Given the description of an element on the screen output the (x, y) to click on. 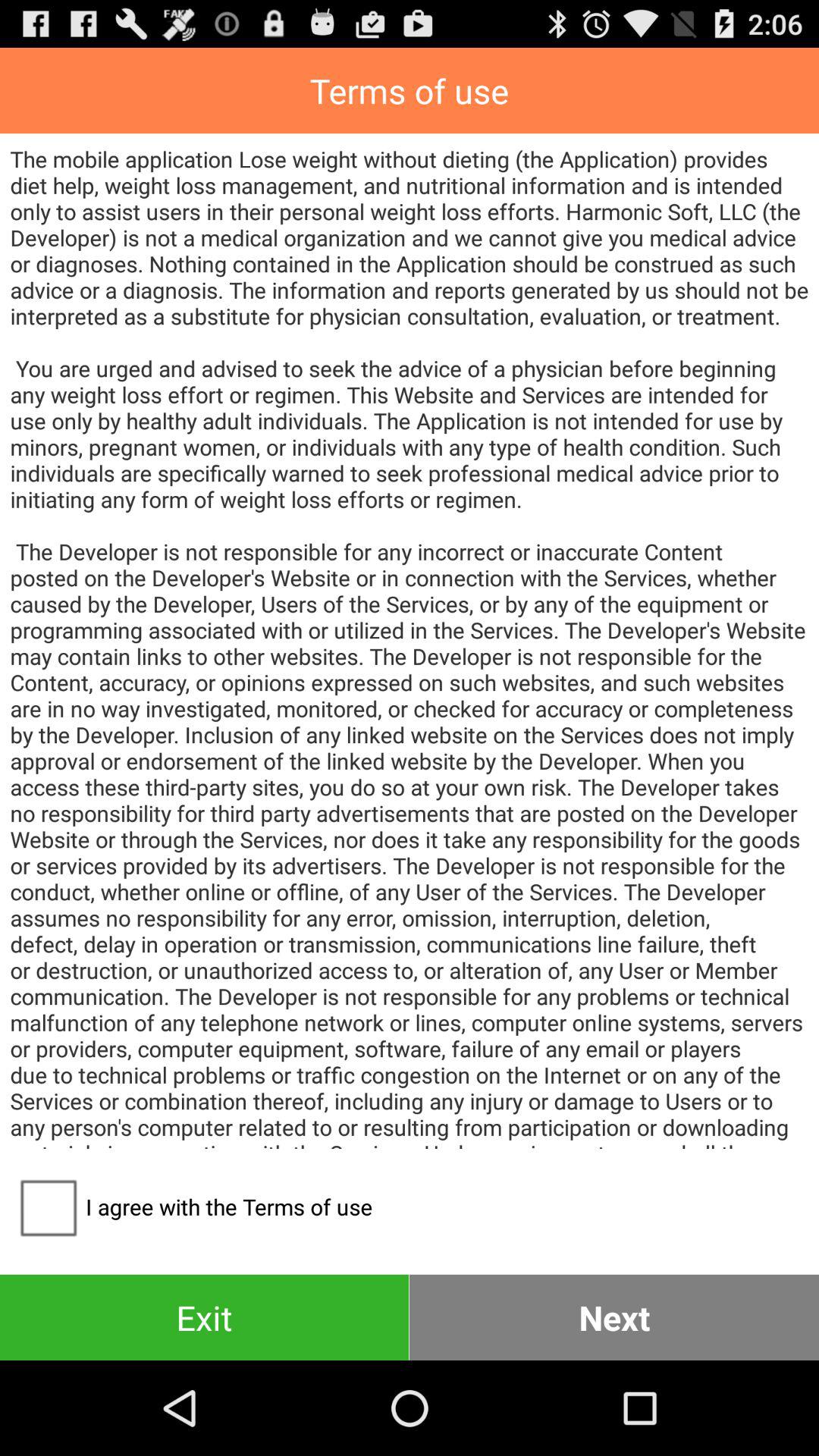
tap next icon (614, 1317)
